Given the description of an element on the screen output the (x, y) to click on. 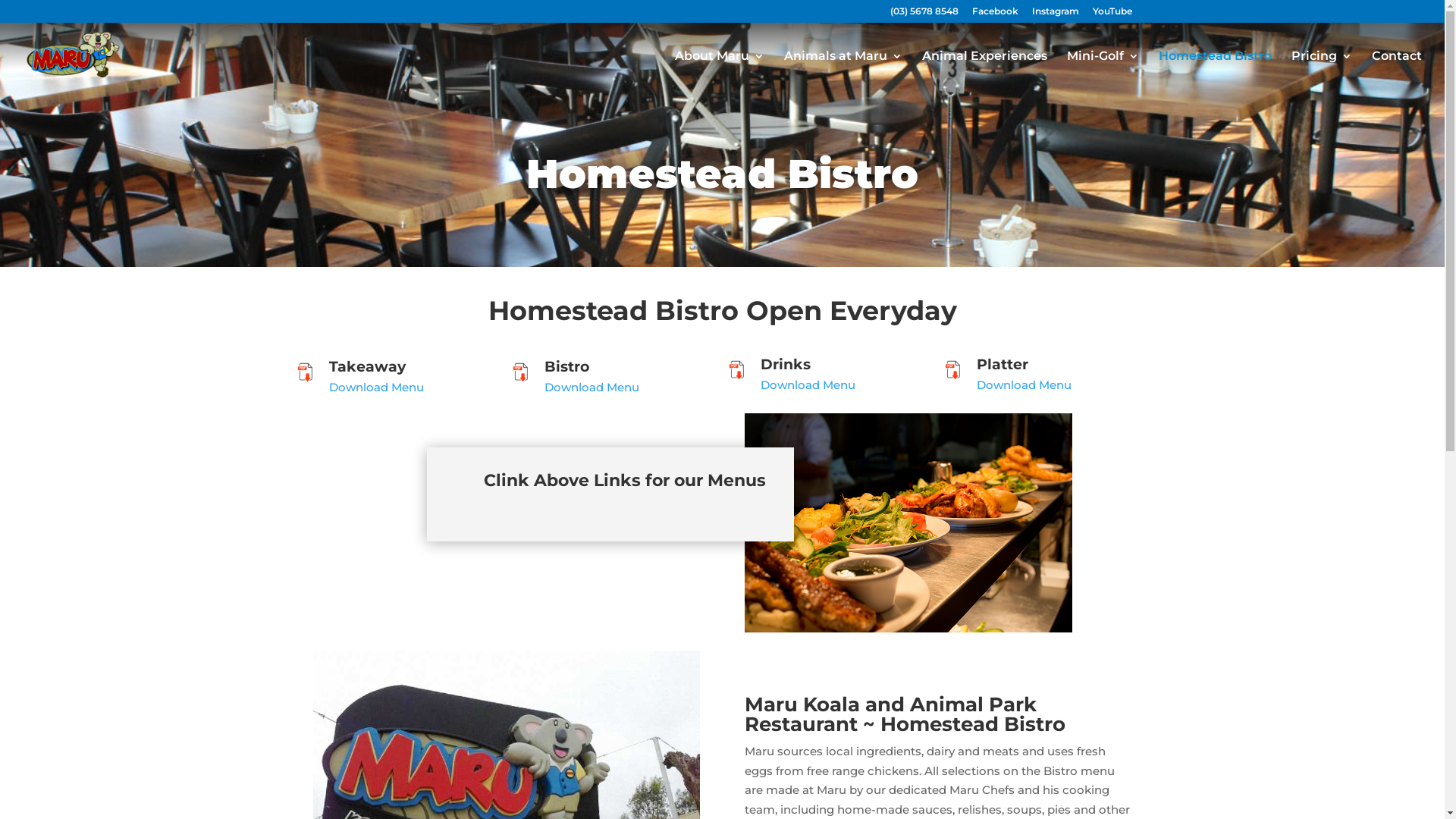
Bistro Element type: text (566, 366)
YouTube Element type: text (1111, 14)
About Maru Element type: text (719, 69)
Homestead Bistro Element type: text (1214, 69)
(03) 5678 8548 Element type: text (924, 14)
Download Menu Element type: text (376, 386)
Download Menu Element type: text (591, 386)
Mini-Golf Element type: text (1102, 69)
Drinks Element type: text (785, 364)
Facebook Element type: text (995, 14)
Instagram Element type: text (1054, 14)
Takeaway Element type: text (367, 366)
Download Menu Element type: text (807, 384)
Contact Element type: text (1396, 69)
Pricing Element type: text (1321, 69)
Download Menu Element type: text (1023, 384)
Animals at Maru Element type: text (843, 69)
Platter Element type: text (1002, 364)
Animal Experiences Element type: text (984, 69)
